Given the description of an element on the screen output the (x, y) to click on. 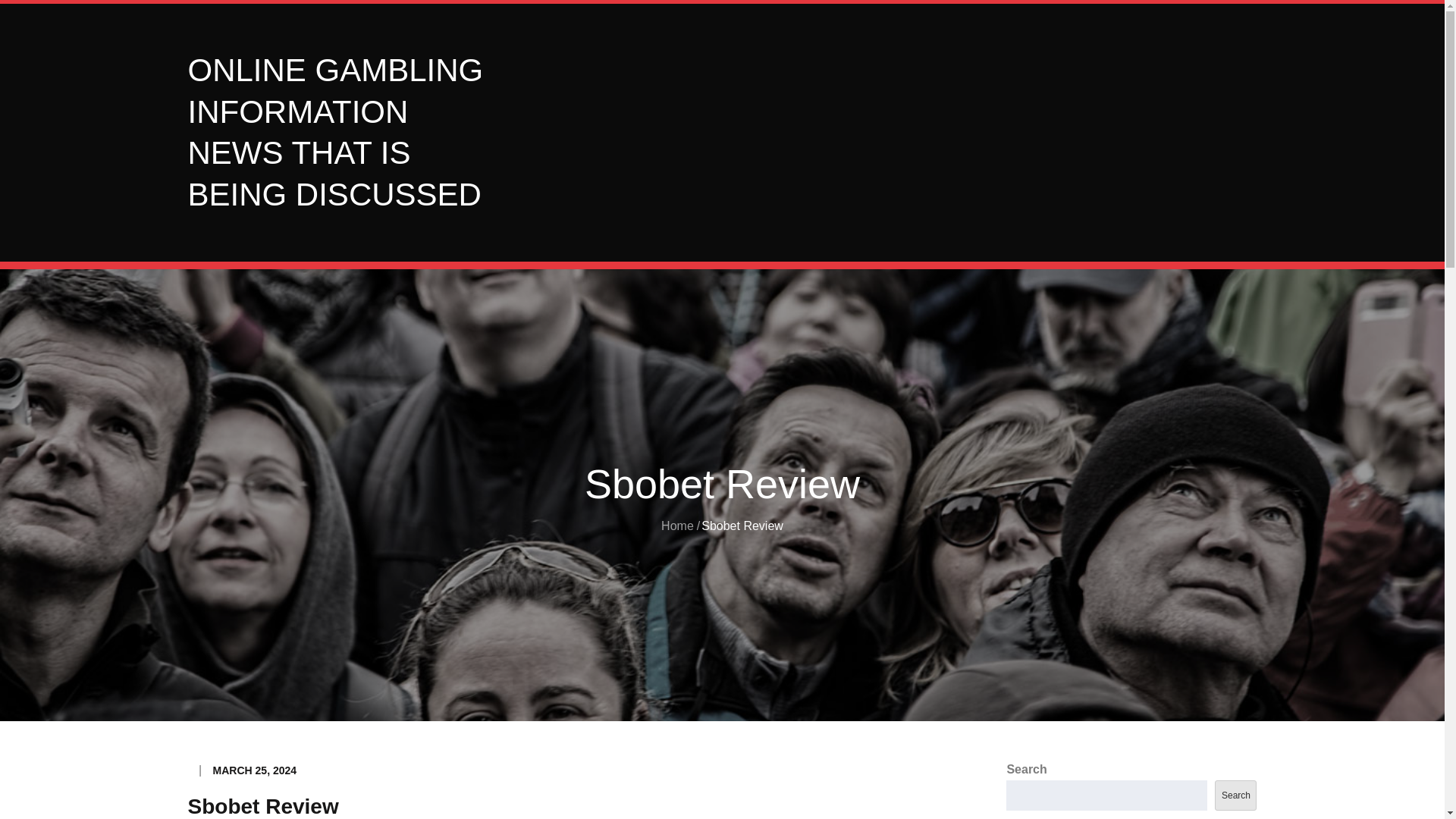
Home (677, 525)
MARCH 25, 2024 (254, 770)
Search (1235, 795)
ONLINE GAMBLING INFORMATION NEWS THAT IS BEING DISCUSSED (335, 132)
